Given the description of an element on the screen output the (x, y) to click on. 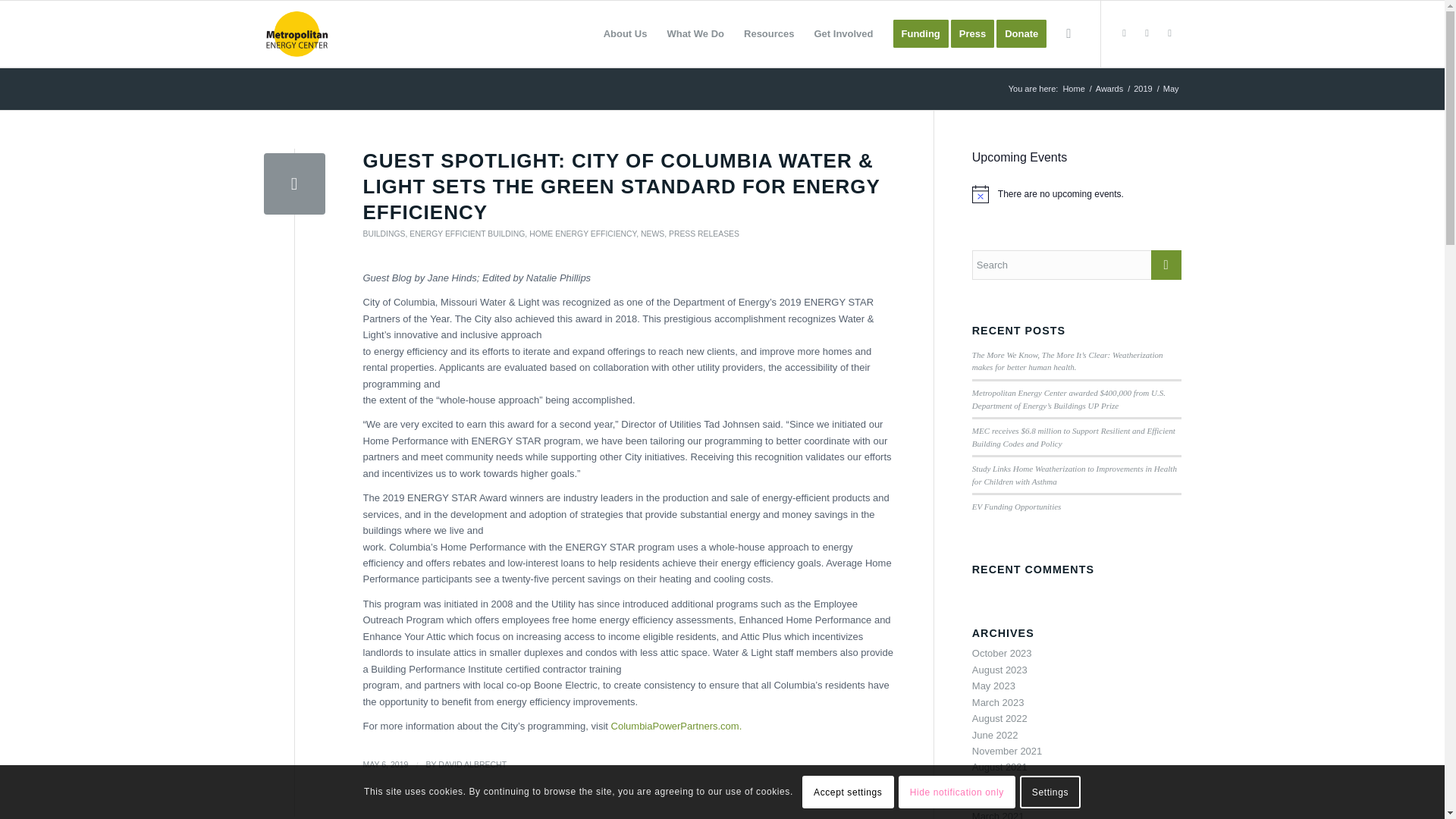
Youtube (1169, 33)
Home (1072, 89)
Posts by David Albrecht (472, 764)
ColumbiaPowerPartners.com. (676, 726)
What We Do (694, 33)
BUILDINGS (383, 234)
NEWS (651, 234)
Get Involved (842, 33)
Resources (768, 33)
Funding (920, 33)
Awards (1109, 89)
Awards (1109, 89)
Facebook (1146, 33)
Donate (1026, 33)
PRESS RELEASES (703, 234)
